Given the description of an element on the screen output the (x, y) to click on. 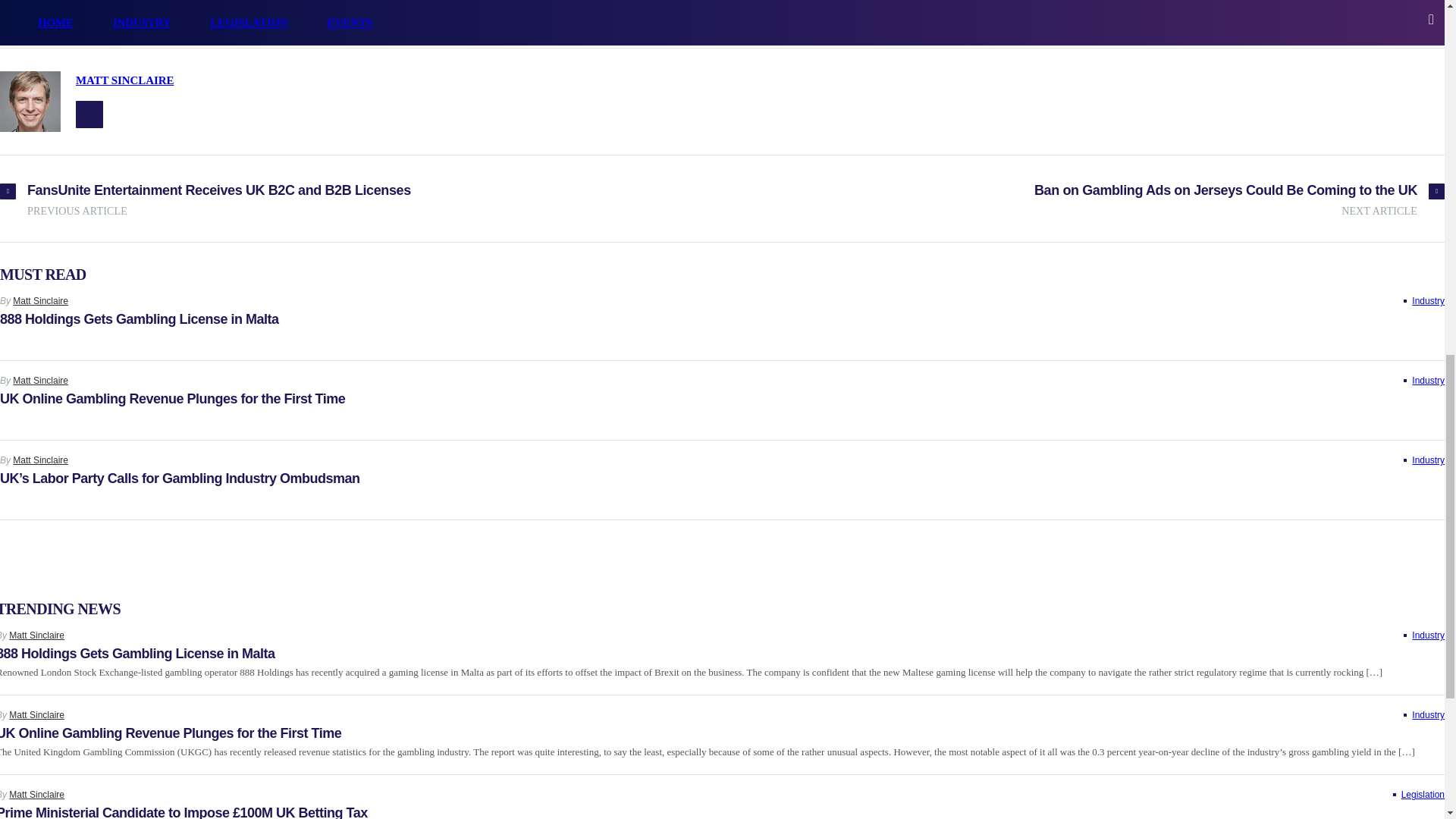
Matt Sinclaire (40, 300)
GAMBLING (280, 15)
MATT SINCLAIRE (124, 80)
GAMBLING COMMISSION (396, 15)
UKGC (604, 15)
MARCUS BOYLE (526, 15)
APPOINTMENT (148, 15)
BGC (219, 15)
